Given the description of an element on the screen output the (x, y) to click on. 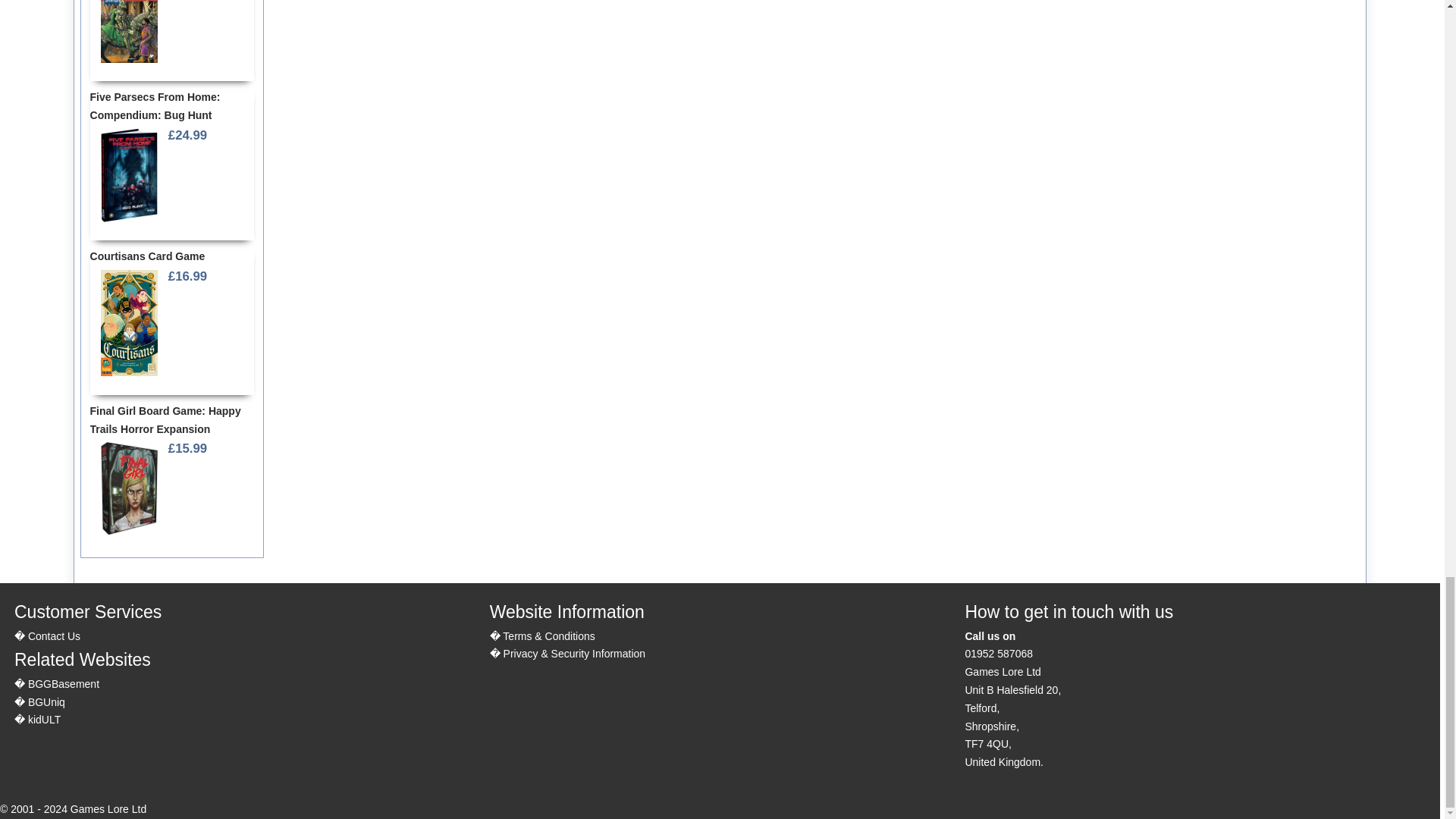
King Arthur Pendragon RPG: Player's Handbook (128, 33)
Final Girl Board Game: Happy Trails Horror Expansion (128, 487)
Five Parsecs From Home: Compendium: Bug Hunt (128, 175)
Courtisans Card Game (128, 323)
